Given the description of an element on the screen output the (x, y) to click on. 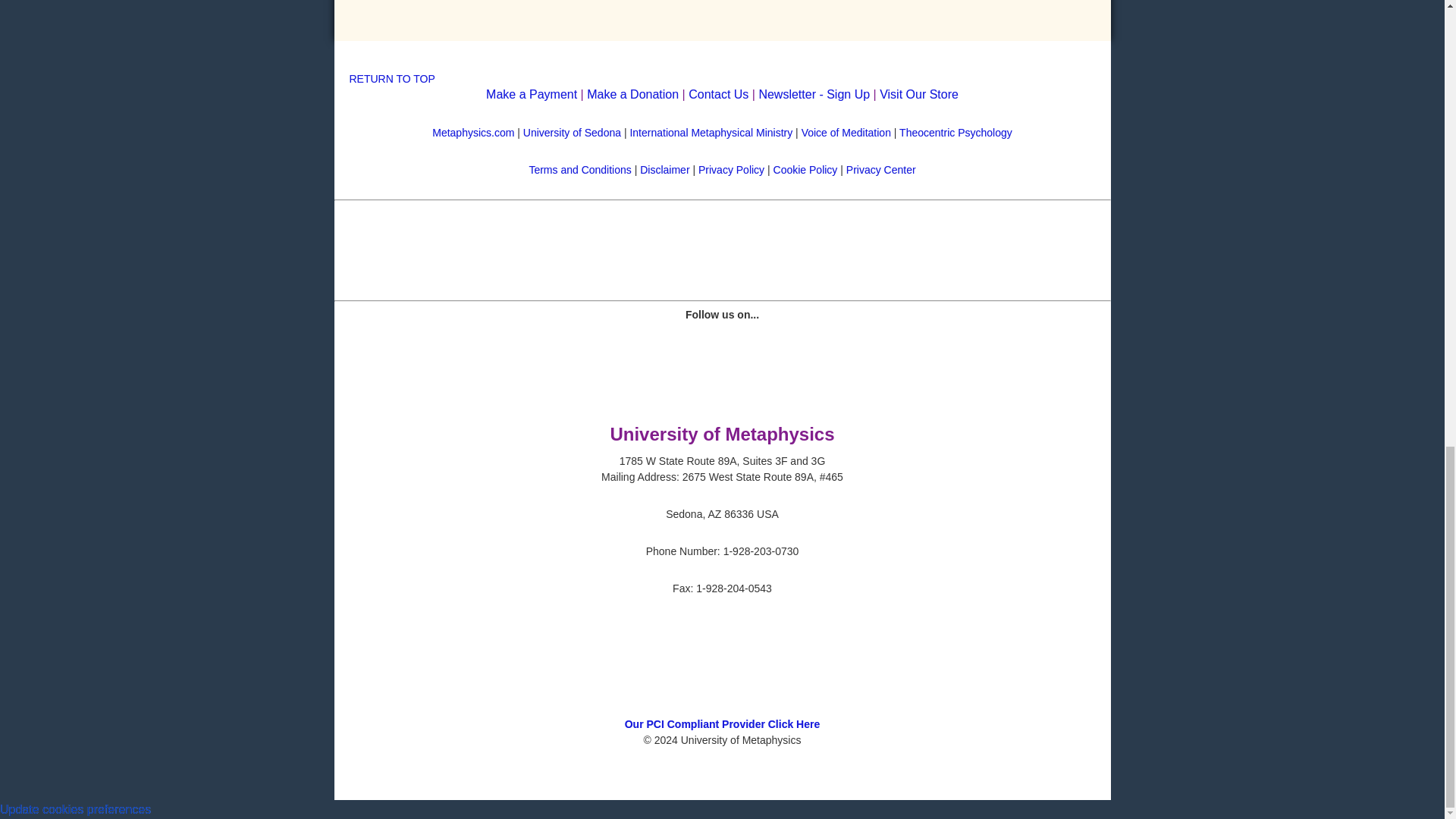
RETURN TO TOP (391, 78)
DMCA.com Protection Status (721, 707)
How PayPal Works (722, 270)
